Given the description of an element on the screen output the (x, y) to click on. 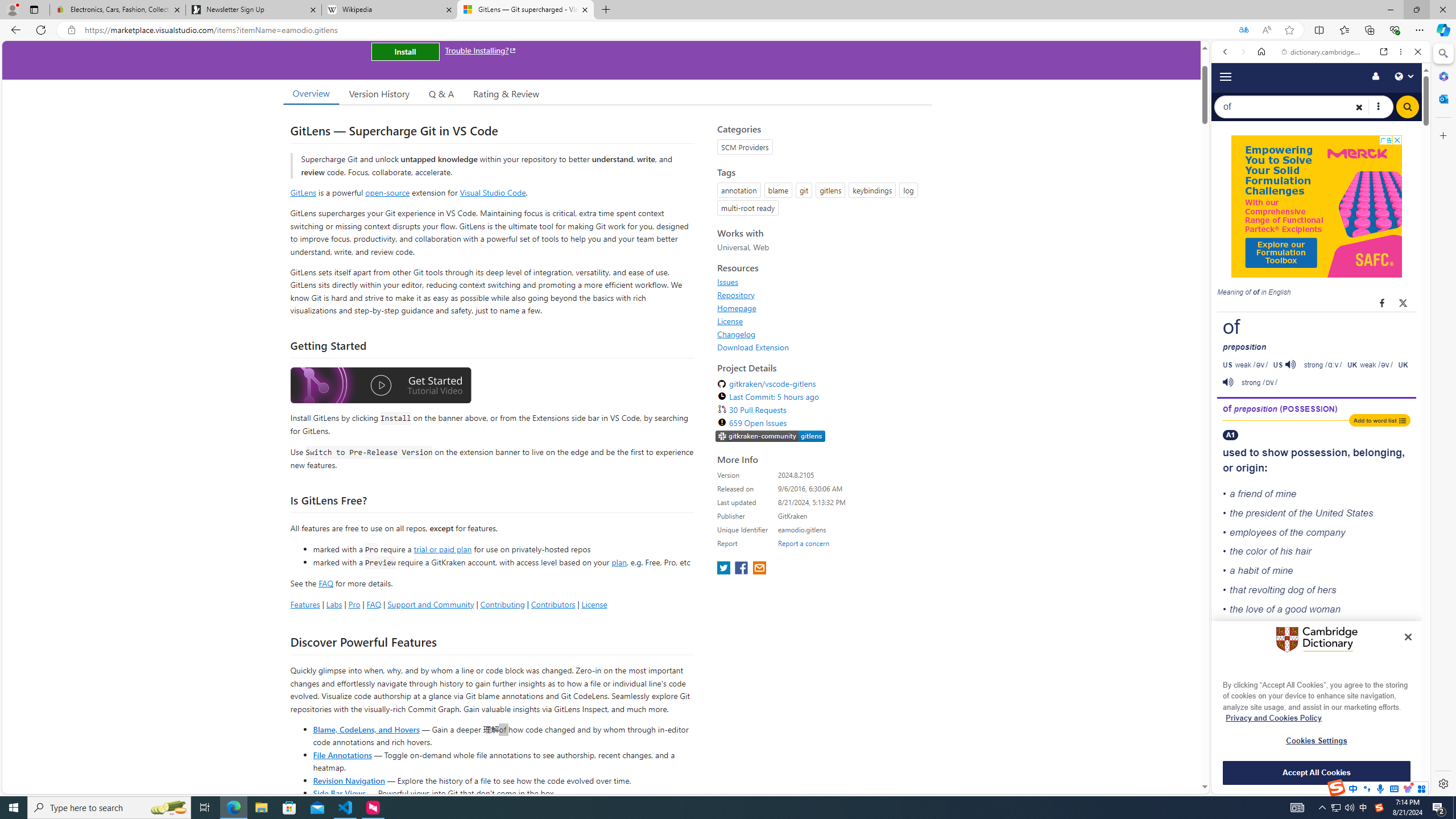
English (US) (1320, 329)
Issues (727, 281)
club (1351, 701)
Homepage (820, 307)
name (1303, 754)
United (1328, 512)
trial or paid plan (442, 548)
License (729, 320)
Actions for this site (1381, 514)
complete (1264, 627)
Changelog (736, 333)
